Given the description of an element on the screen output the (x, y) to click on. 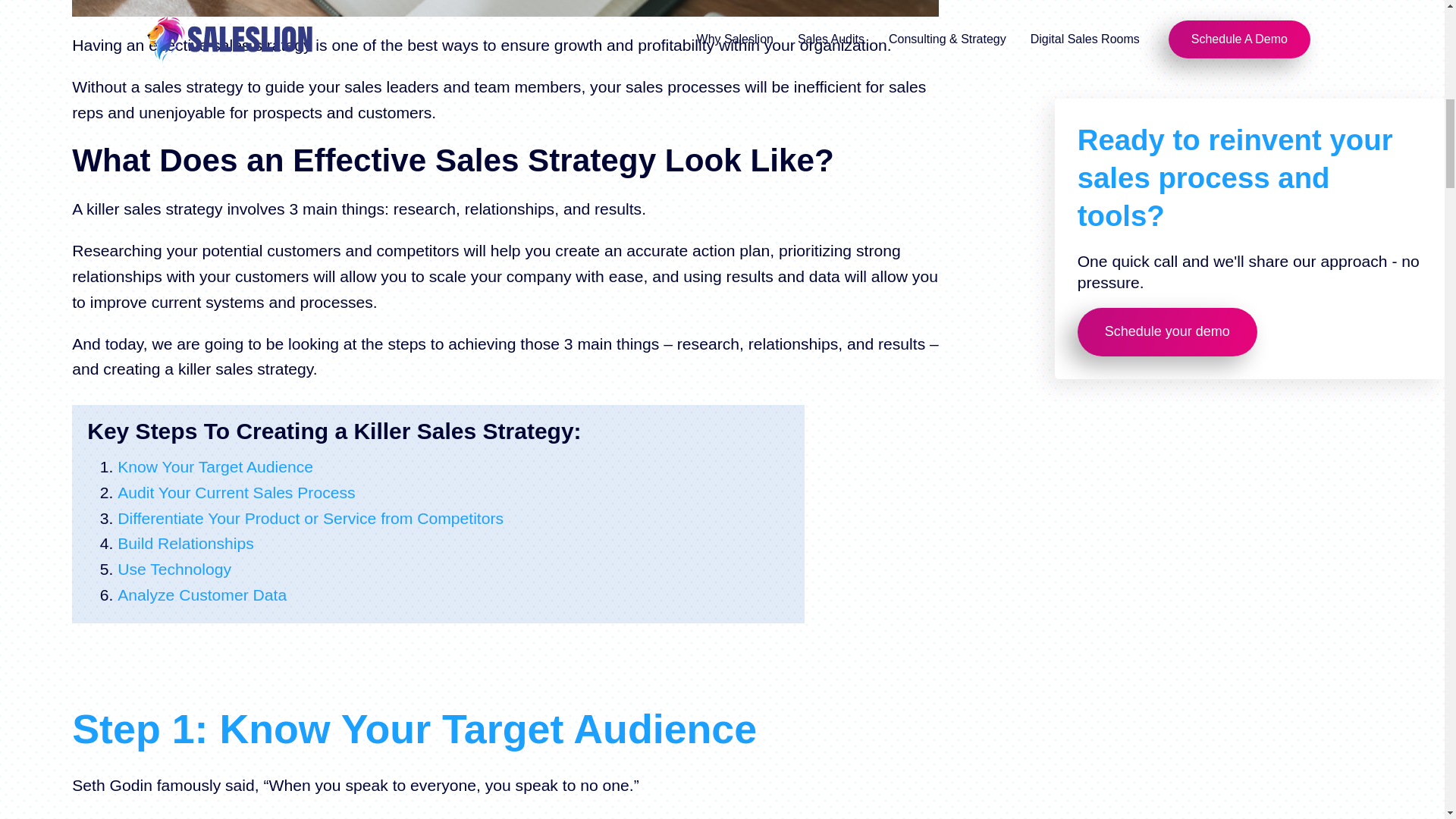
Analyze Customer Data (201, 595)
Differentiate Your Product or Service from Competitors (310, 518)
Build Relationships (185, 543)
Know Your Target Audience (215, 466)
Audit Your Current Sales Process (236, 493)
Use Technology (174, 569)
